Given the description of an element on the screen output the (x, y) to click on. 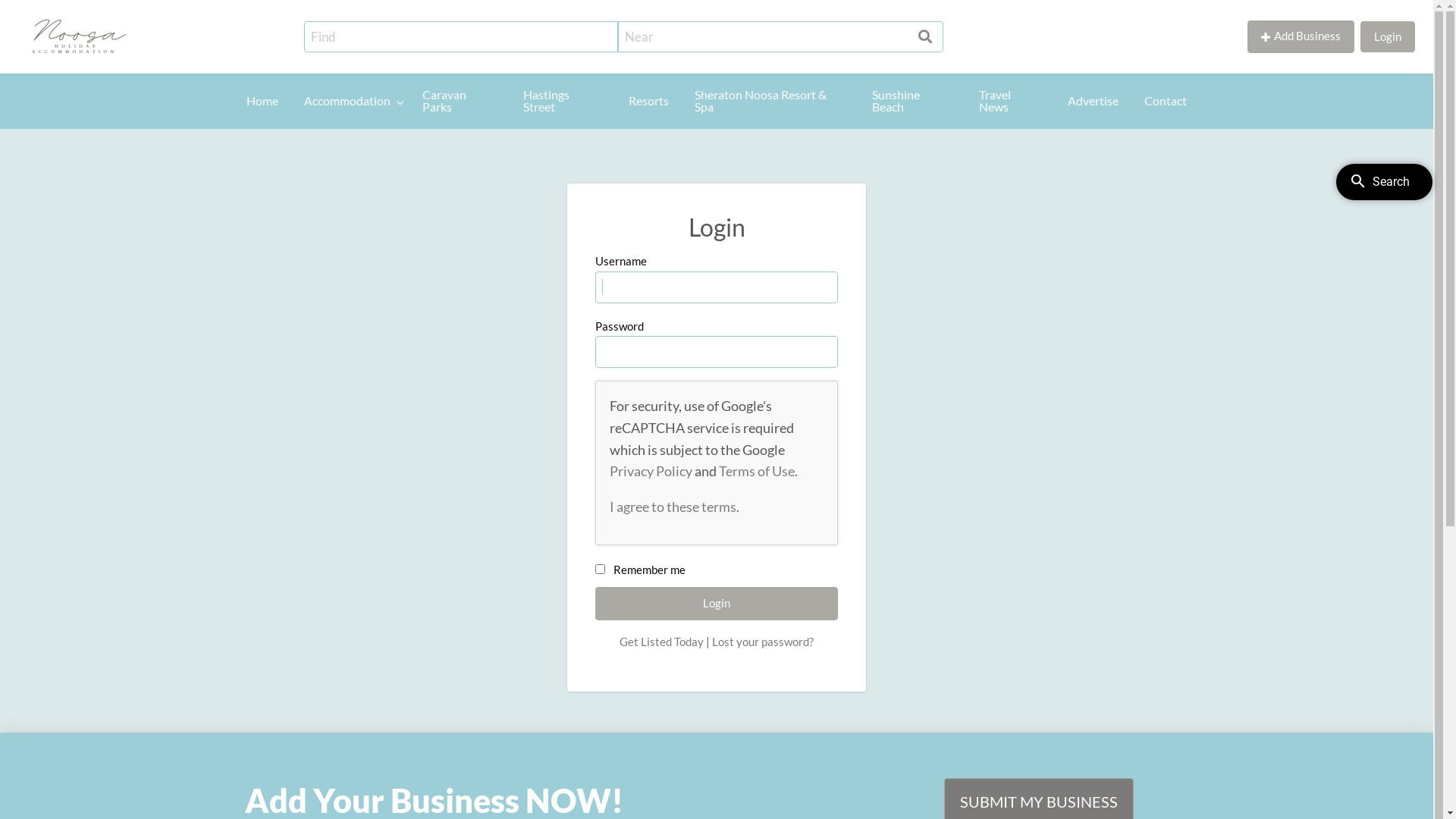
Search Element type: text (29, 16)
Login Element type: text (716, 602)
Add Business Element type: text (1300, 36)
Contact Element type: text (1165, 101)
Hastings Street Element type: text (562, 101)
Accommodation Element type: text (350, 101)
Advertise Element type: text (1092, 101)
Travel News Element type: text (1010, 101)
I agree to these terms Element type: text (672, 506)
Sheraton Noosa Resort & Spa Element type: text (770, 101)
Sheraton Noosa Resort & Spa Element type: text (269, 146)
Login Element type: text (1387, 36)
Noosa Holiday Accommodation Element type: text (357, 34)
Resorts Element type: text (648, 101)
Caravan Parks Element type: text (459, 101)
Contact Element type: text (571, 147)
Sunshine Beach Element type: text (912, 101)
Lost your password? Element type: text (762, 641)
Travel News Element type: text (420, 146)
Hastings Street Element type: text (116, 146)
Sunshine Beach Element type: text (349, 146)
Get Listed Today Element type: text (661, 641)
Caravan Parks Element type: text (40, 146)
Resorts Element type: text (192, 147)
Advertise Element type: text (493, 147)
Privacy Policy Element type: text (650, 470)
Terms of Use Element type: text (756, 470)
Home Element type: text (262, 101)
